Given the description of an element on the screen output the (x, y) to click on. 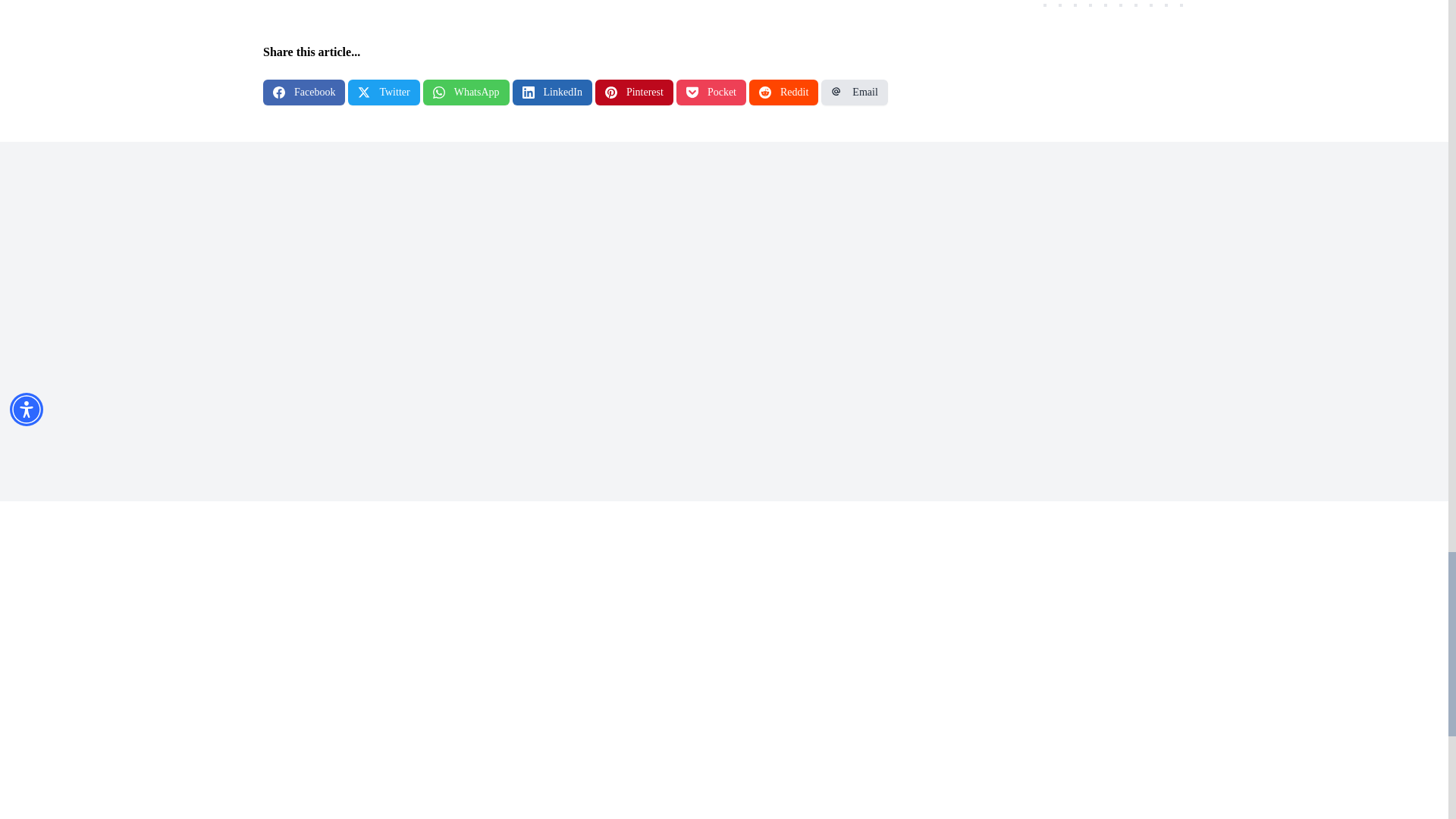
on (918, 331)
on (913, 318)
